Given the description of an element on the screen output the (x, y) to click on. 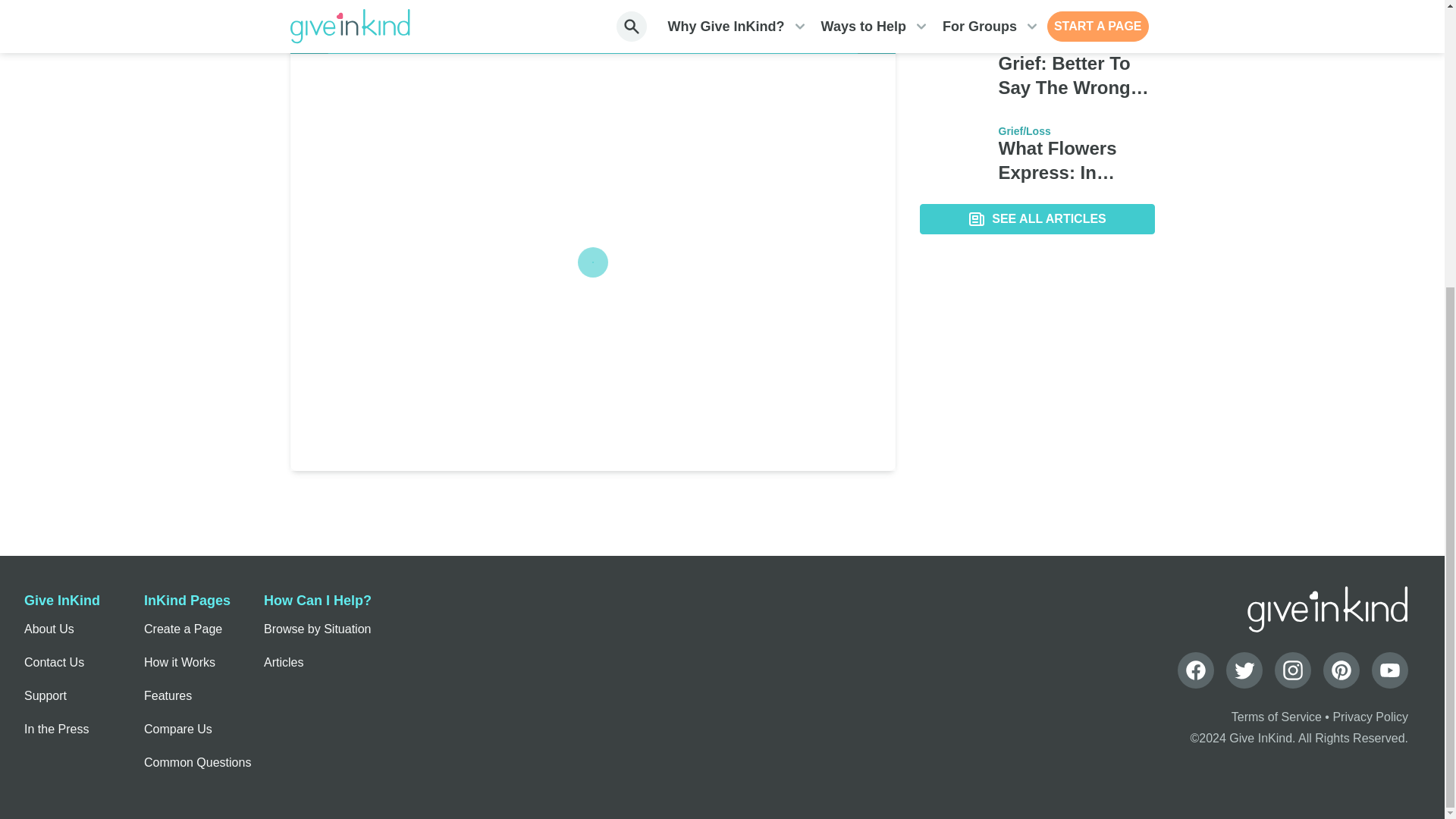
How to Give Groceries as a Gift for a Meal Train (1075, 7)
Grief: Better To Say The Wrong Thing Than Nothing At All (1075, 75)
PRINT MONTH (831, 4)
